Given the description of an element on the screen output the (x, y) to click on. 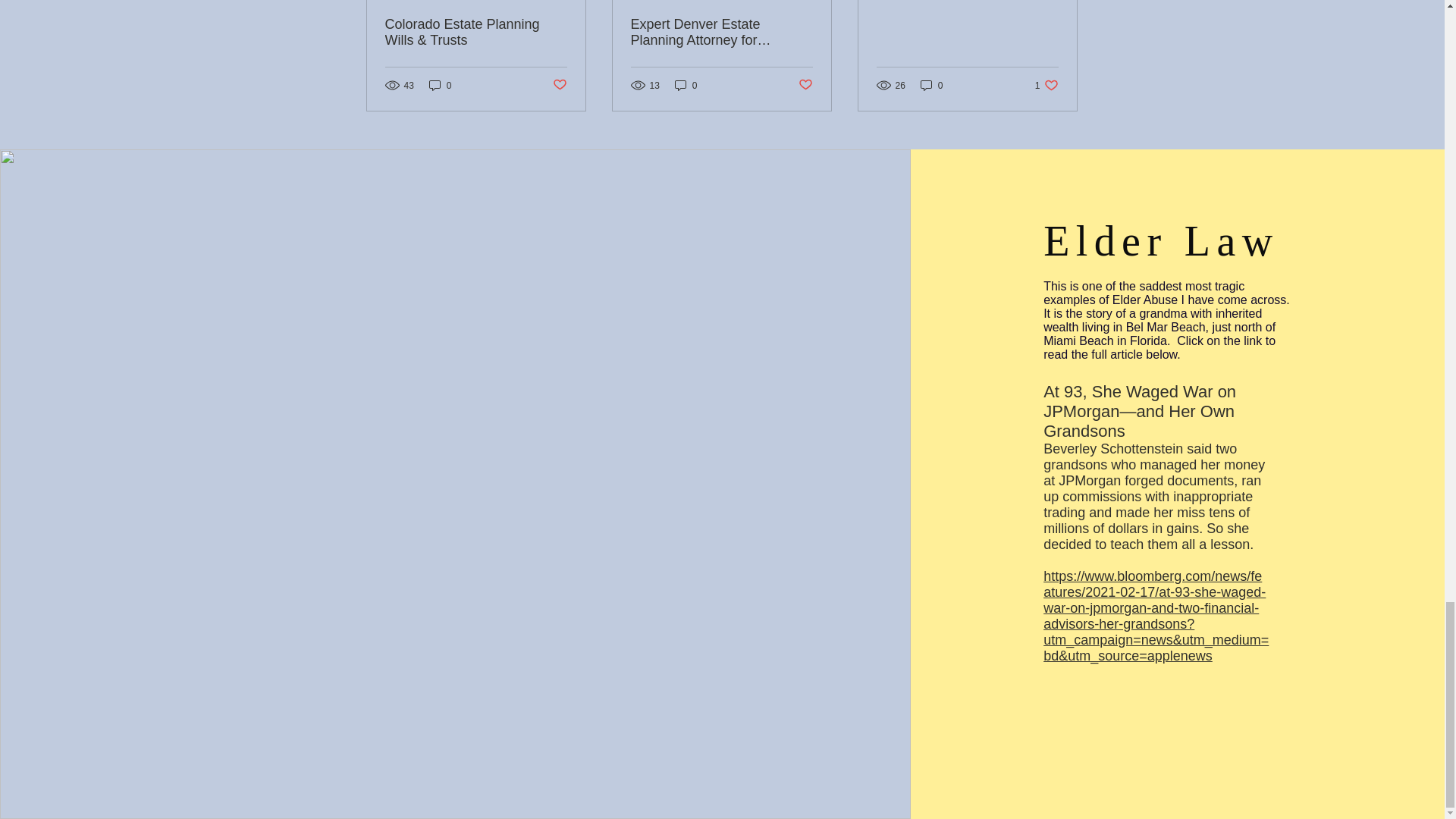
0 (685, 84)
Post not marked as liked (558, 84)
0 (931, 84)
Post not marked as liked (804, 84)
0 (440, 84)
